Given the description of an element on the screen output the (x, y) to click on. 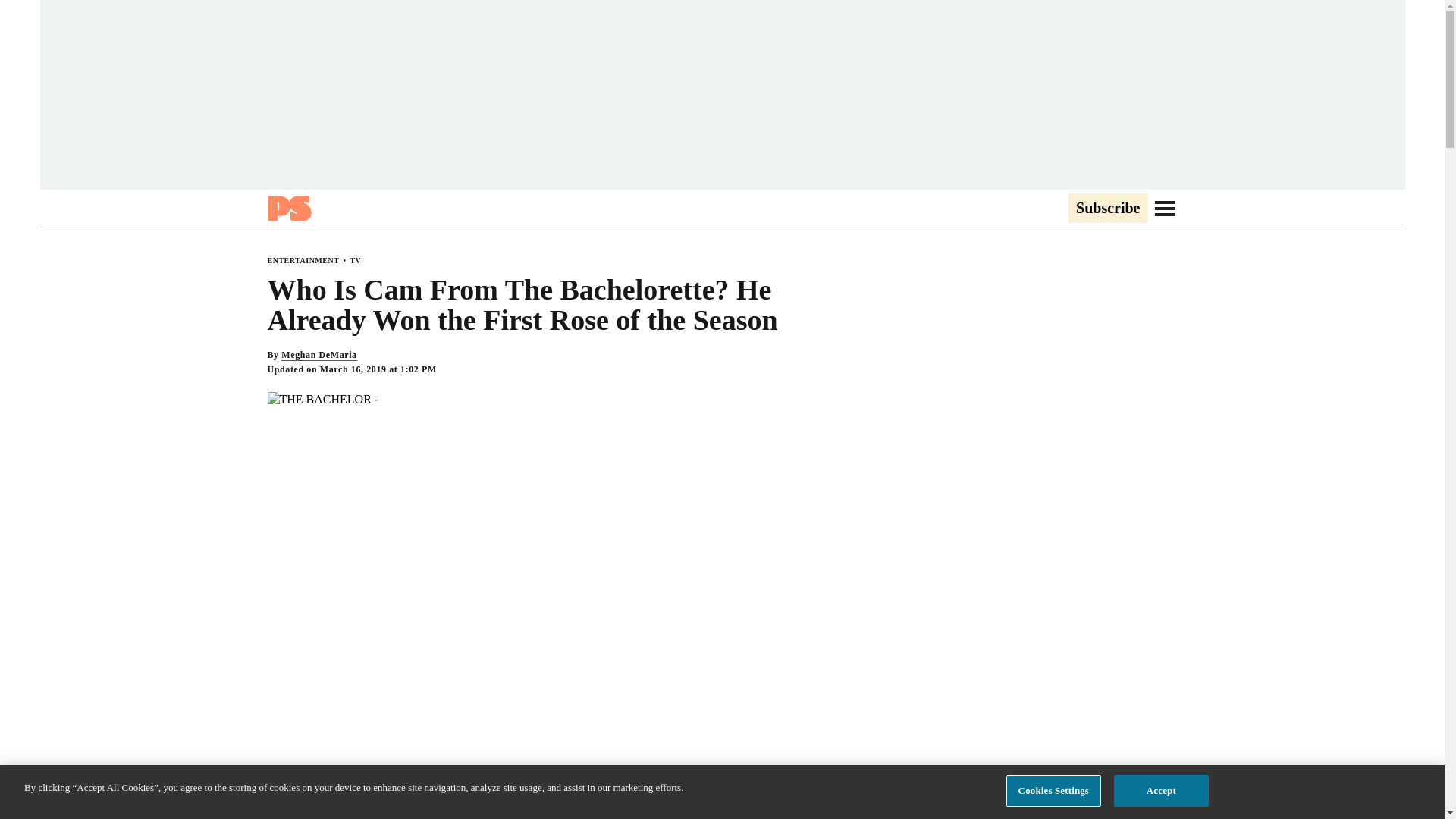
Meghan DeMaria (318, 355)
TV (355, 260)
Go to Navigation (1164, 207)
Go to Navigation (1164, 207)
ENTERTAINMENT (302, 260)
Subscribe (1107, 208)
Popsugar (288, 208)
